Given the description of an element on the screen output the (x, y) to click on. 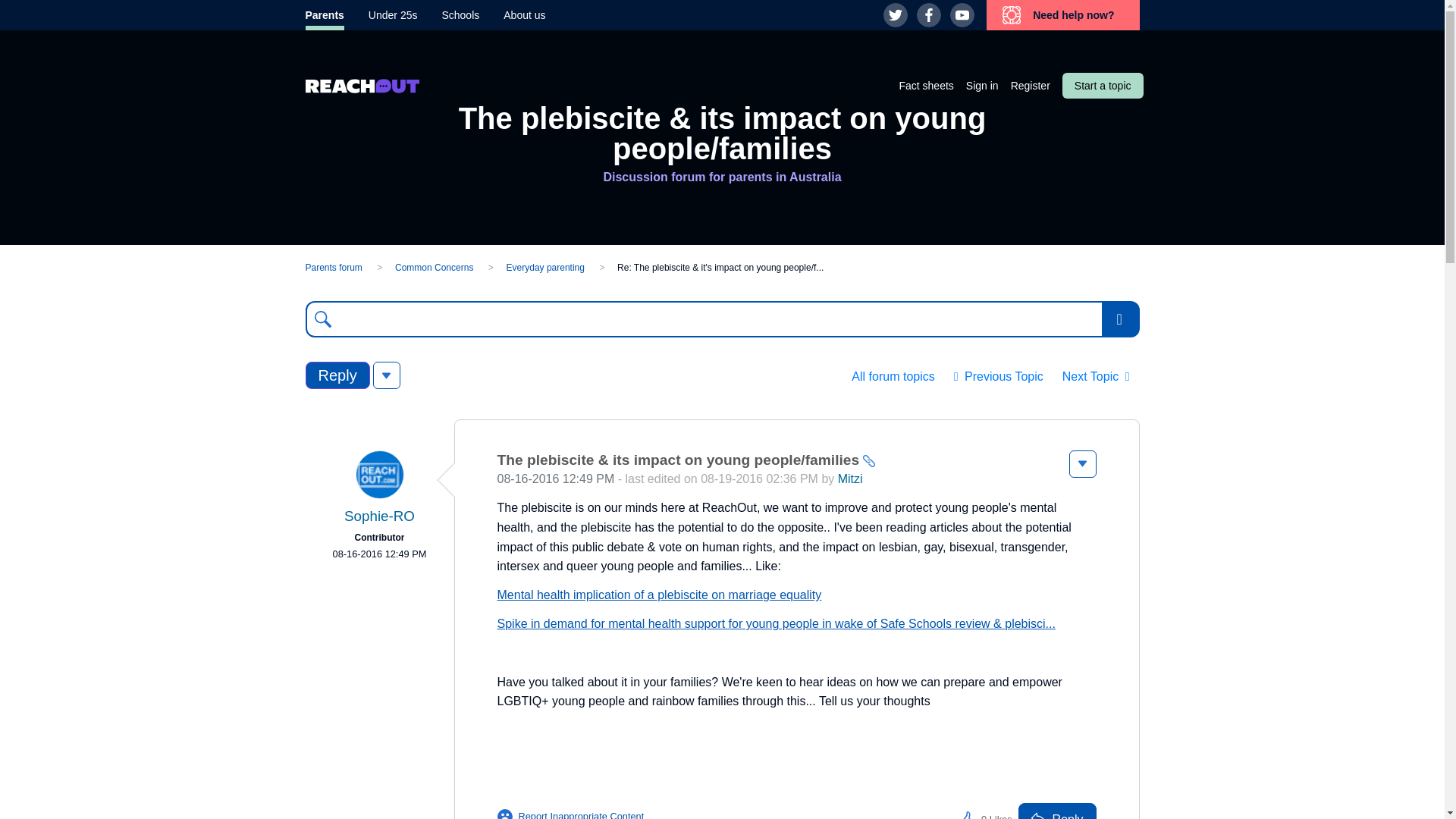
Click here to give likes to this post. (965, 811)
Those precious times when we connect (1096, 376)
Twitter (895, 15)
Contains a hyperlink (869, 460)
Sophie-RO (379, 474)
Fact sheets (925, 85)
Parents (323, 15)
Go To (1120, 319)
Under 25s (392, 15)
Schools (460, 15)
Sign in (982, 85)
Posted on (378, 554)
Register (1029, 85)
Show option menu (1120, 319)
The total number of likes this post has received. (996, 811)
